Given the description of an element on the screen output the (x, y) to click on. 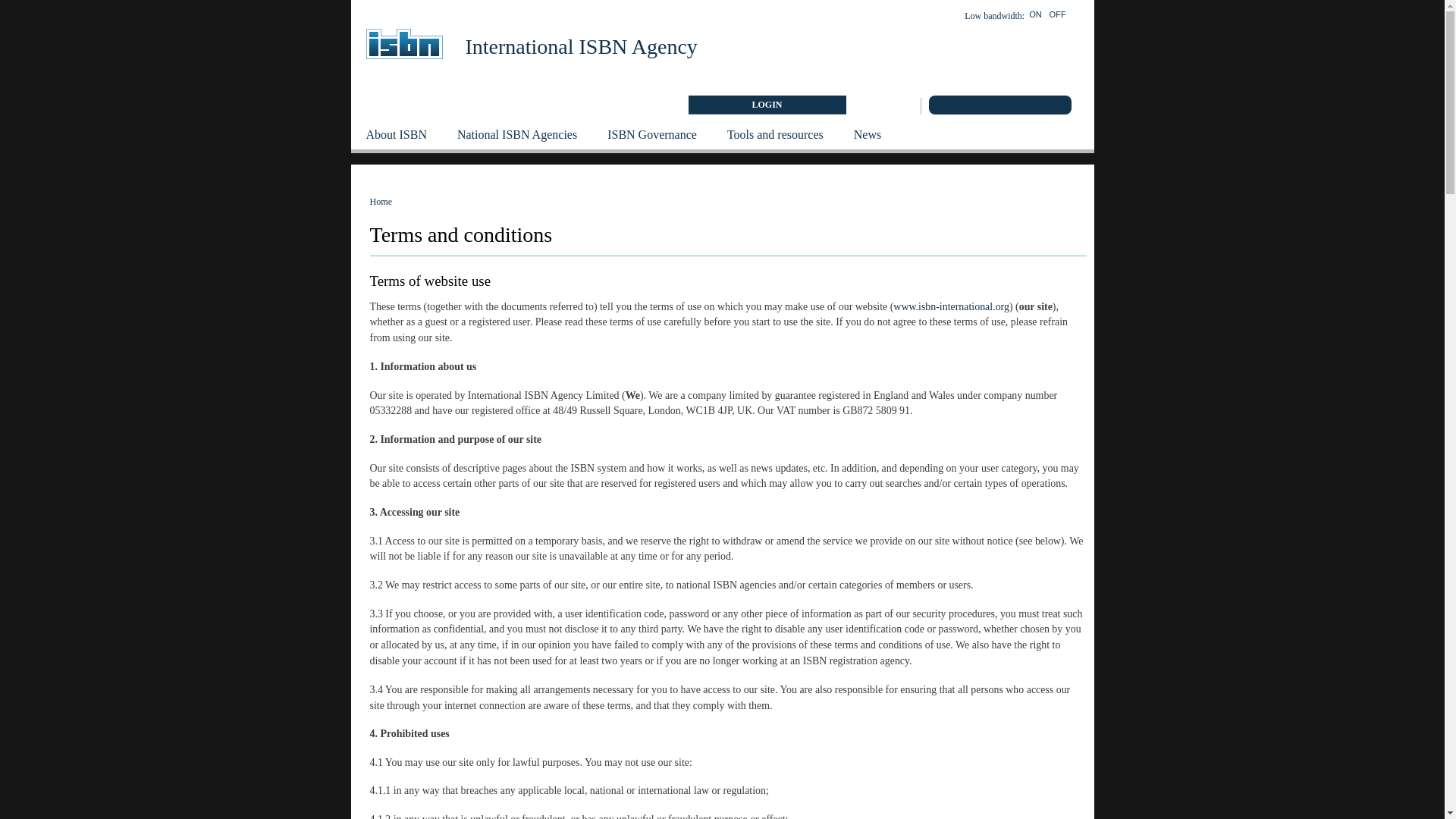
International ISBN Agency (581, 46)
Enter the terms you wish to search for. (986, 104)
Home (581, 46)
Tools and resources (774, 133)
ON (1035, 11)
Search (1057, 104)
Home (380, 201)
OFF (1057, 11)
Home (405, 39)
